Given the description of an element on the screen output the (x, y) to click on. 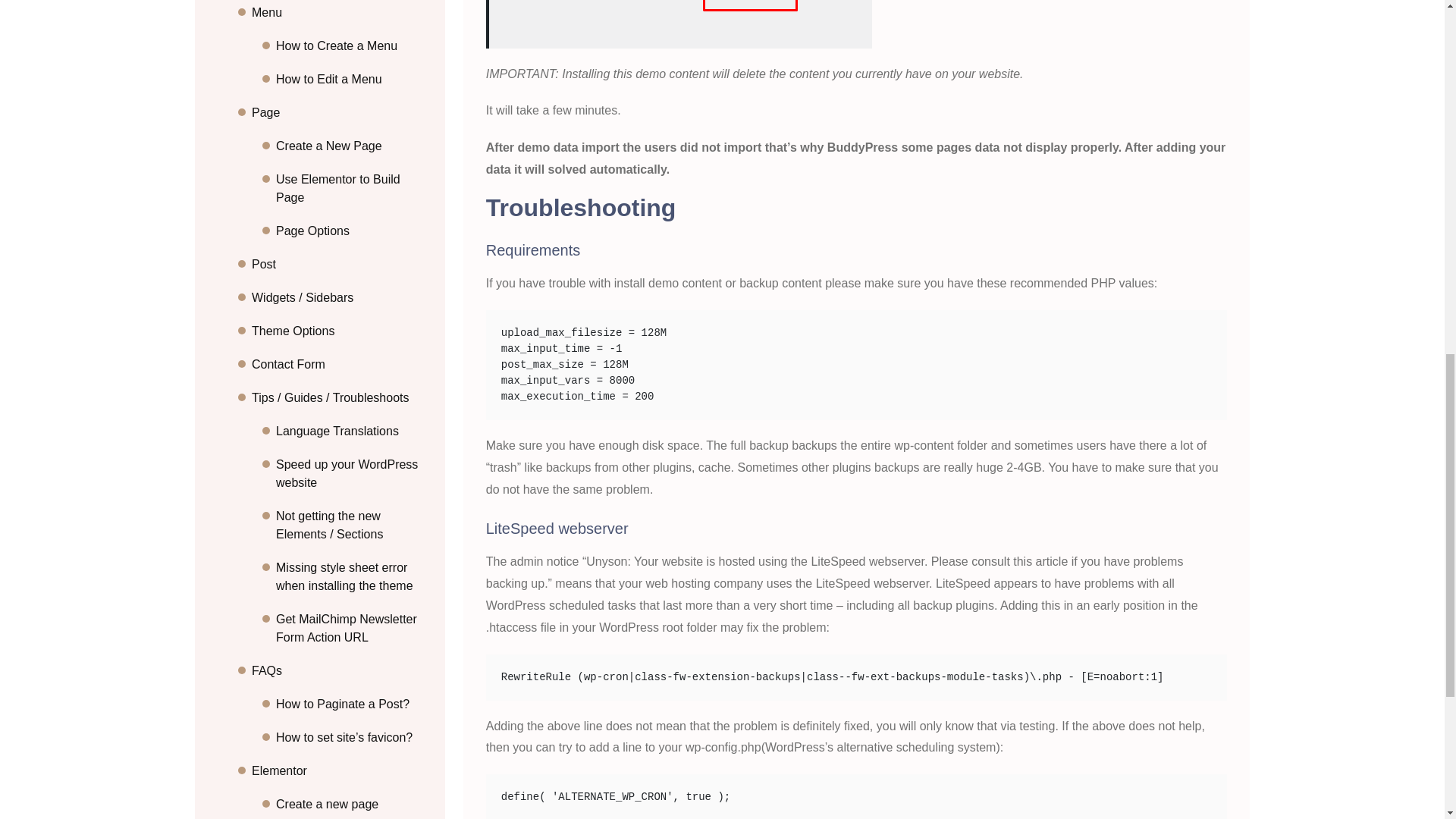
Use Elementor to Build Page (351, 163)
FAQs (338, 646)
Get MailChimp Newsletter Form Action URL (351, 603)
Create a New Page (351, 121)
Speed up your WordPress website (351, 448)
Language Translations (351, 406)
How to Edit a Menu (351, 54)
How to Paginate a Post? (351, 679)
Page Options (351, 206)
Missing style sheet error when installing the theme (351, 551)
